Given the description of an element on the screen output the (x, y) to click on. 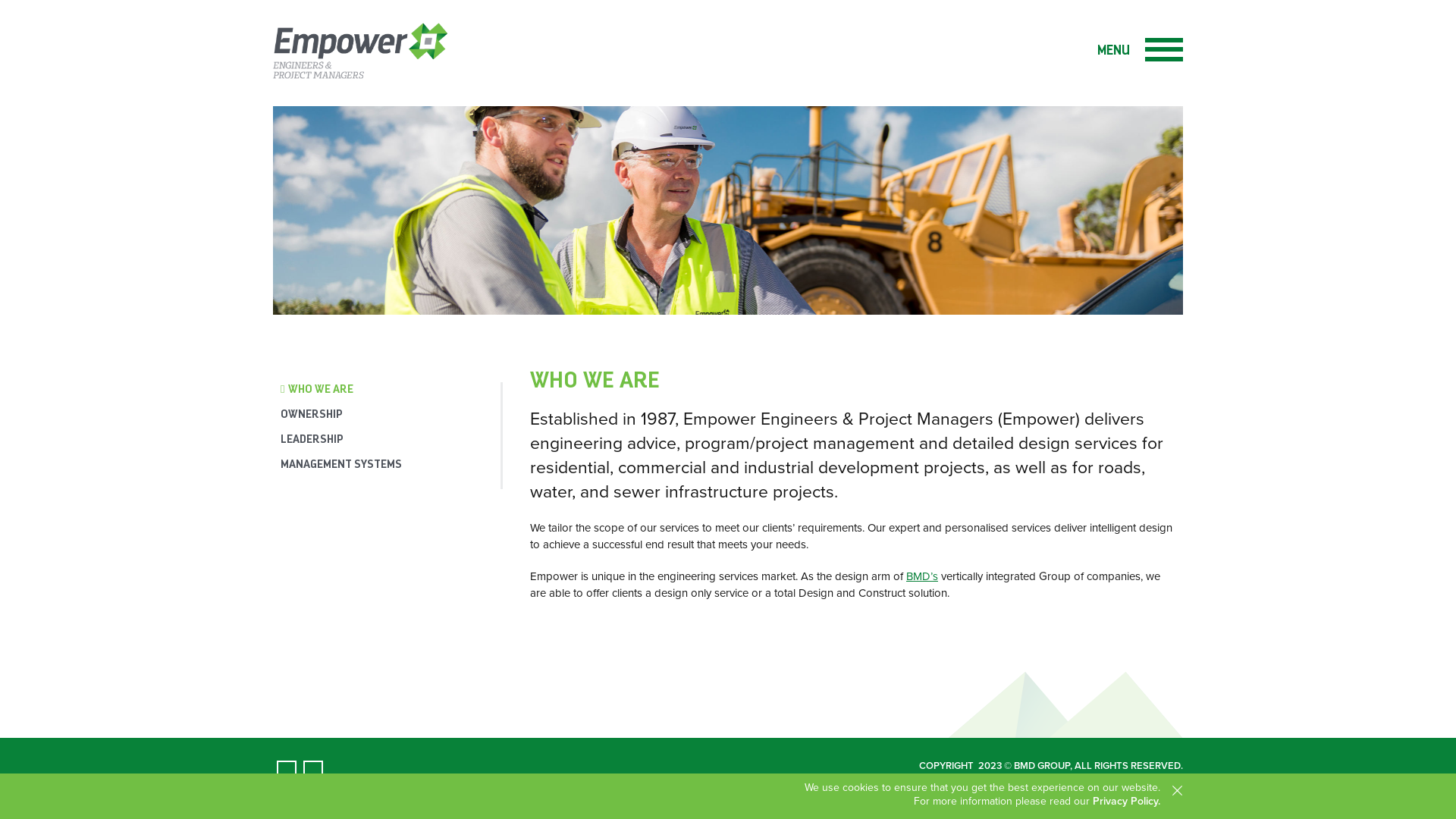
LEADERSHIP Element type: text (390, 439)
DISCLAIMER Element type: text (1024, 777)
THIRTEENDIGITAL.COM.AU Element type: text (1121, 777)
WHO WE ARE Element type: text (390, 388)
Privacy Policy. Element type: text (1126, 800)
MANAGEMENT SYSTEMS Element type: text (390, 464)
PRIVACY POLICY Element type: text (951, 777)
OWNERSHIP Element type: text (390, 413)
